Given the description of an element on the screen output the (x, y) to click on. 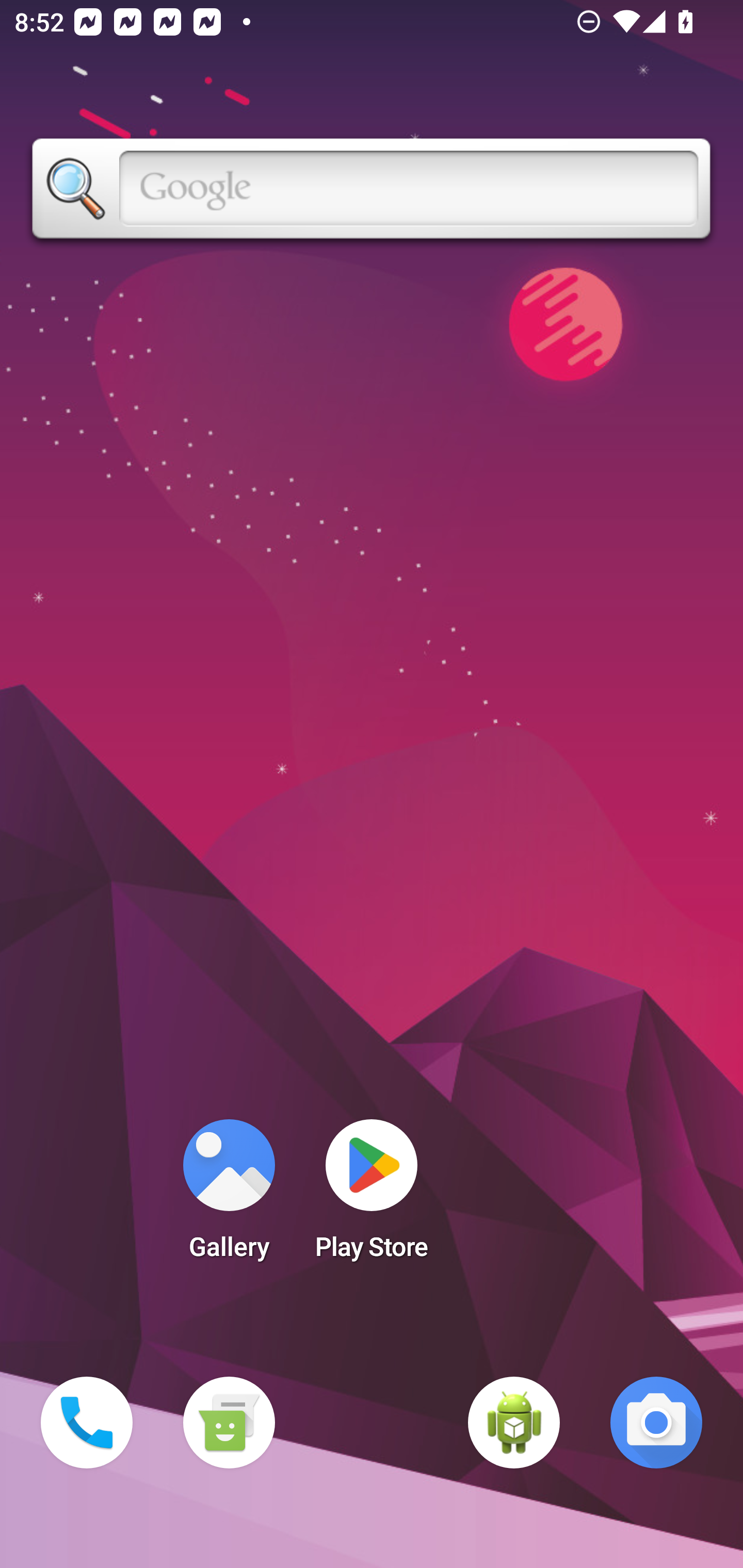
Gallery (228, 1195)
Play Store (371, 1195)
Phone (86, 1422)
Messaging (228, 1422)
WebView Browser Tester (513, 1422)
Camera (656, 1422)
